Given the description of an element on the screen output the (x, y) to click on. 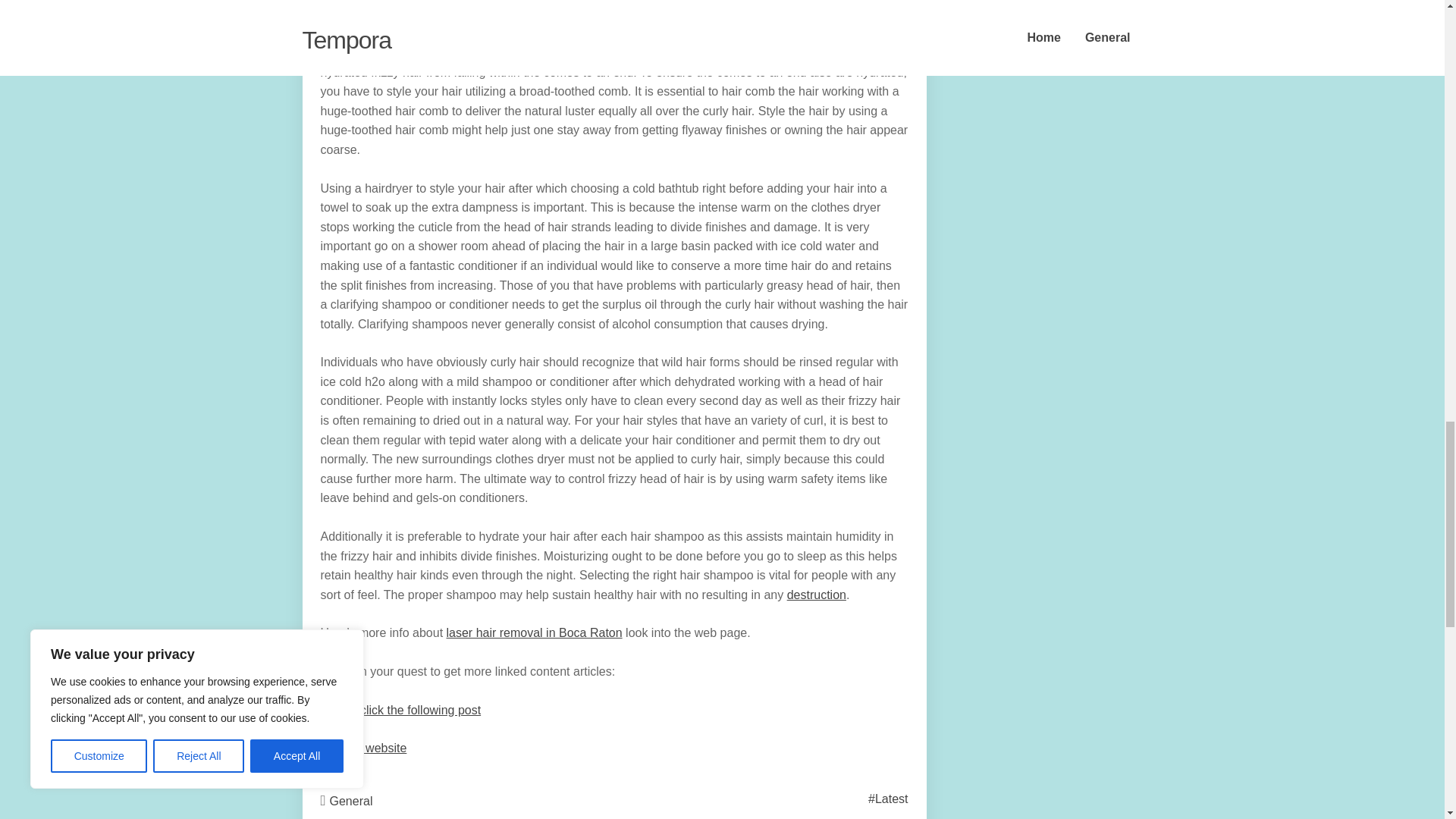
laser hair removal in Boca Raton (534, 632)
General (351, 800)
Simply click the following post (400, 709)
visit our website (363, 748)
destruction (816, 594)
